Given the description of an element on the screen output the (x, y) to click on. 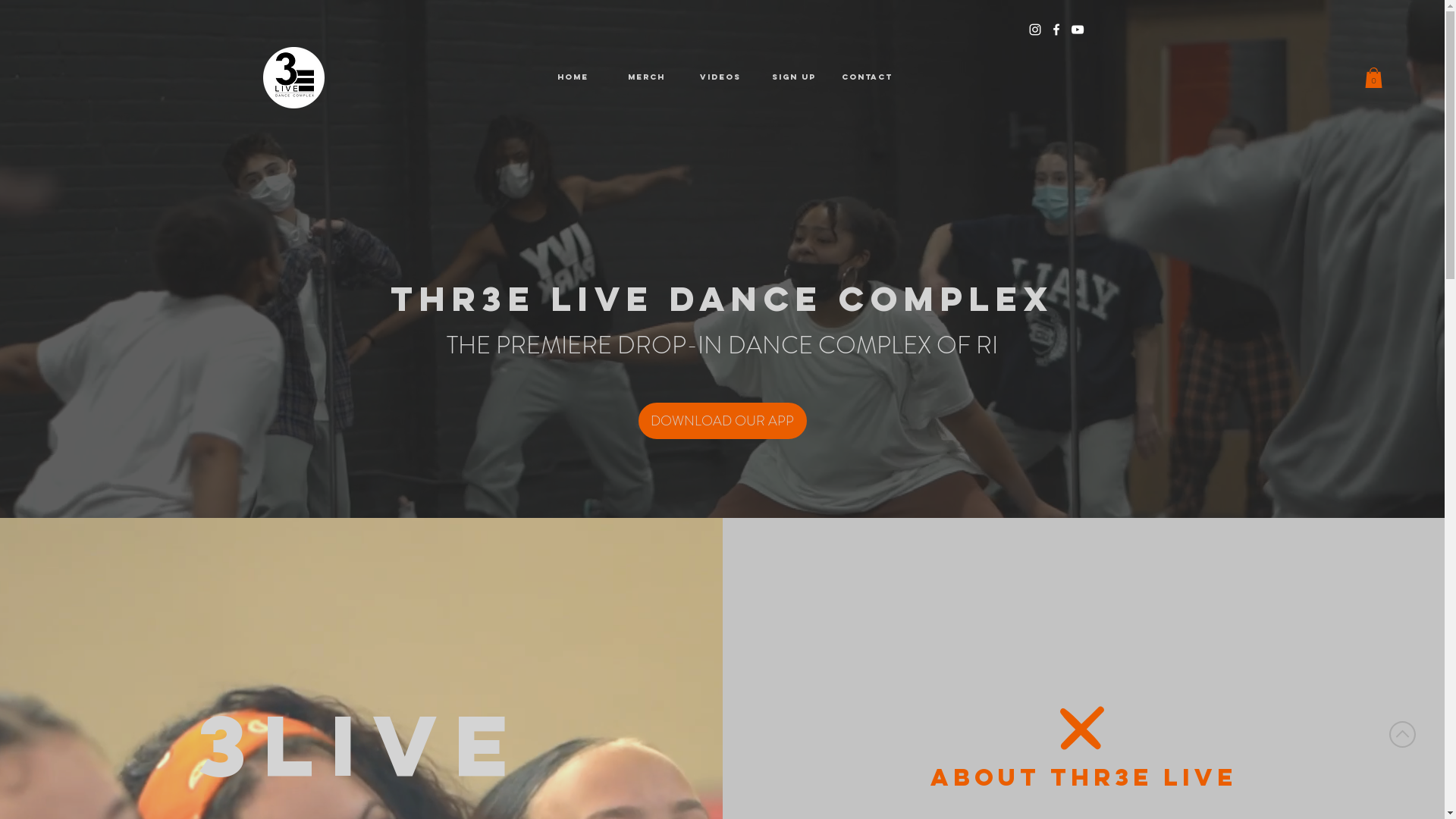
0 Element type: text (1373, 77)
VIDEOS Element type: text (719, 77)
DOWNLOAD OUR APP Element type: text (722, 420)
CONTACT Element type: text (866, 77)
HOME Element type: text (572, 77)
SIGN UP Element type: text (793, 77)
MERCH Element type: text (646, 77)
